Given the description of an element on the screen output the (x, y) to click on. 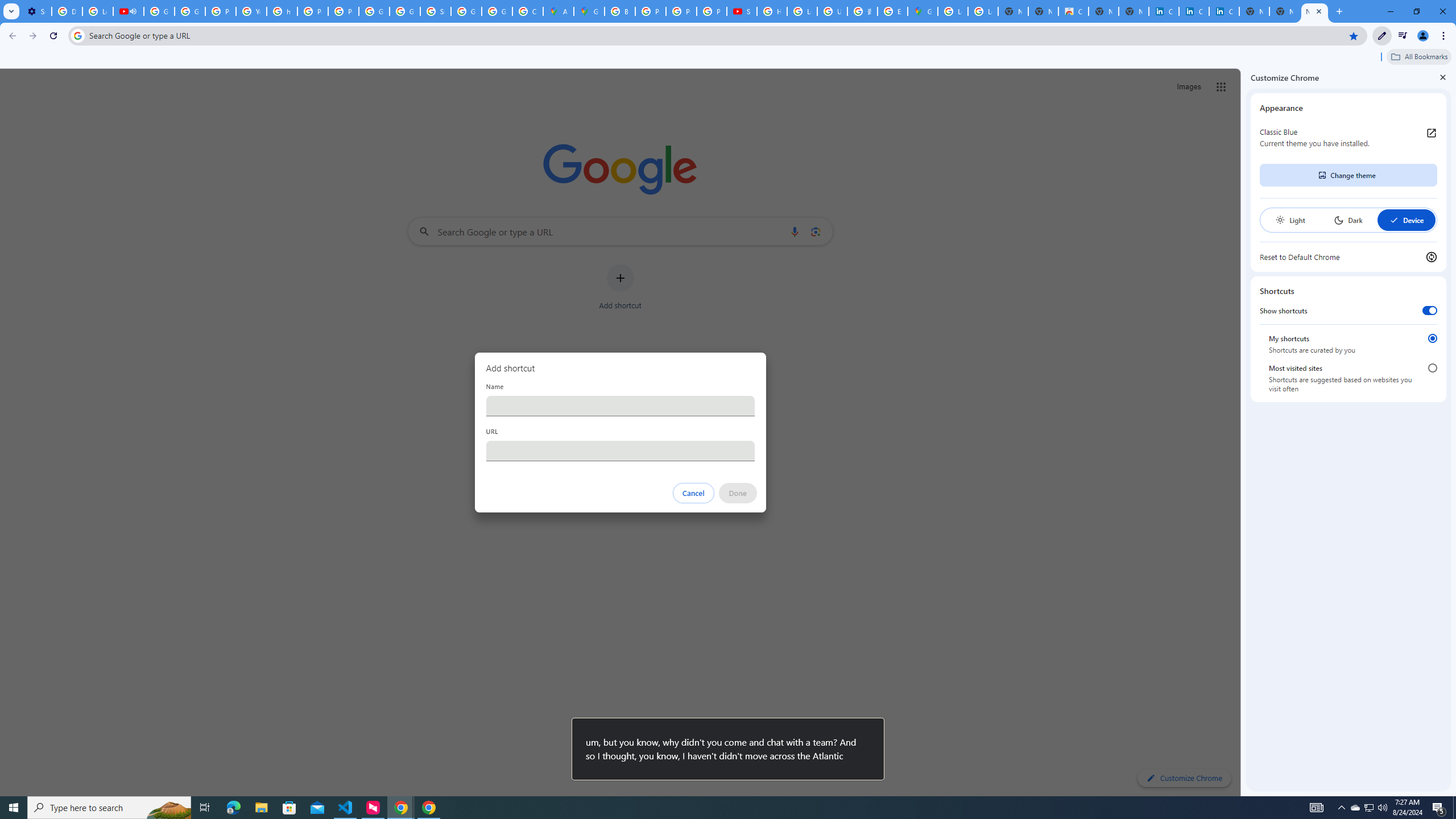
Blogger Policies and Guidelines - Transparency Center (619, 11)
Chrome Web Store (1072, 11)
Cookie Policy | LinkedIn (1163, 11)
Delete photos & videos - Computer - Google Photos Help (66, 11)
Explore new street-level details - Google Maps Help (892, 11)
Privacy Help Center - Policies Help (681, 11)
AutomationID: baseSvg (1394, 219)
YouTube (251, 11)
